Given the description of an element on the screen output the (x, y) to click on. 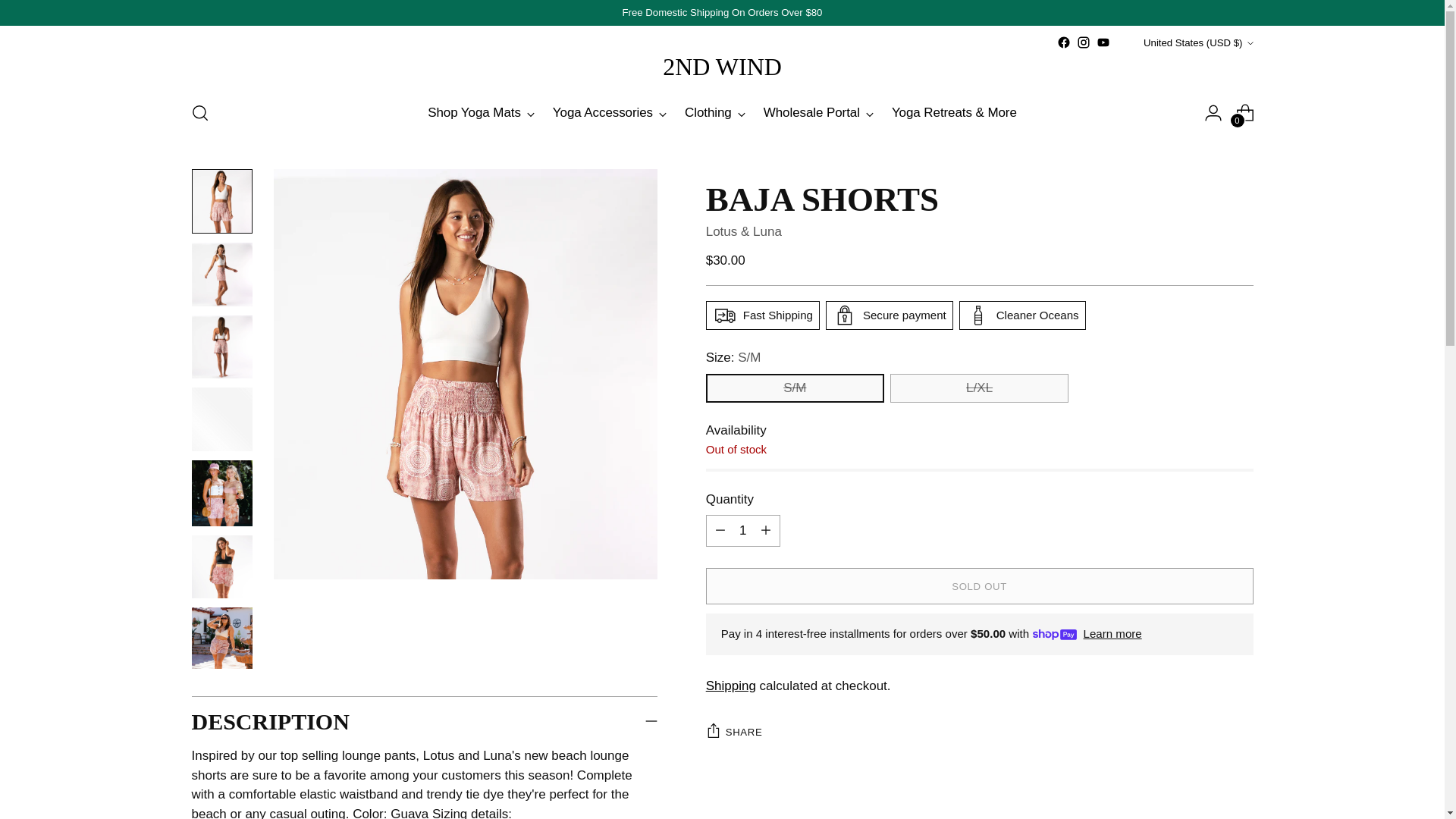
2nd Wind on Facebook Element type: hover (1063, 42)
Yoga Accessories Element type: text (609, 112)
L/XL Element type: text (979, 387)
0 Element type: text (1245, 112)
S/M Element type: text (795, 387)
Clothing Element type: text (714, 112)
DESCRIPTION Element type: text (424, 721)
2ND WIND Element type: text (721, 67)
Lotus & Luna Element type: text (743, 231)
SHARE Element type: text (734, 731)
United States (USD $) Element type: text (1188, 42)
Shipping Element type: text (731, 685)
2nd Wind on YouTube Element type: hover (1103, 42)
SOLD OUT Element type: text (979, 585)
Wholesale Portal Element type: text (818, 112)
Shop Yoga Mats Element type: text (480, 112)
Yoga Retreats & More Element type: text (953, 112)
2nd Wind on Instagram Element type: hover (1083, 42)
